Given the description of an element on the screen output the (x, y) to click on. 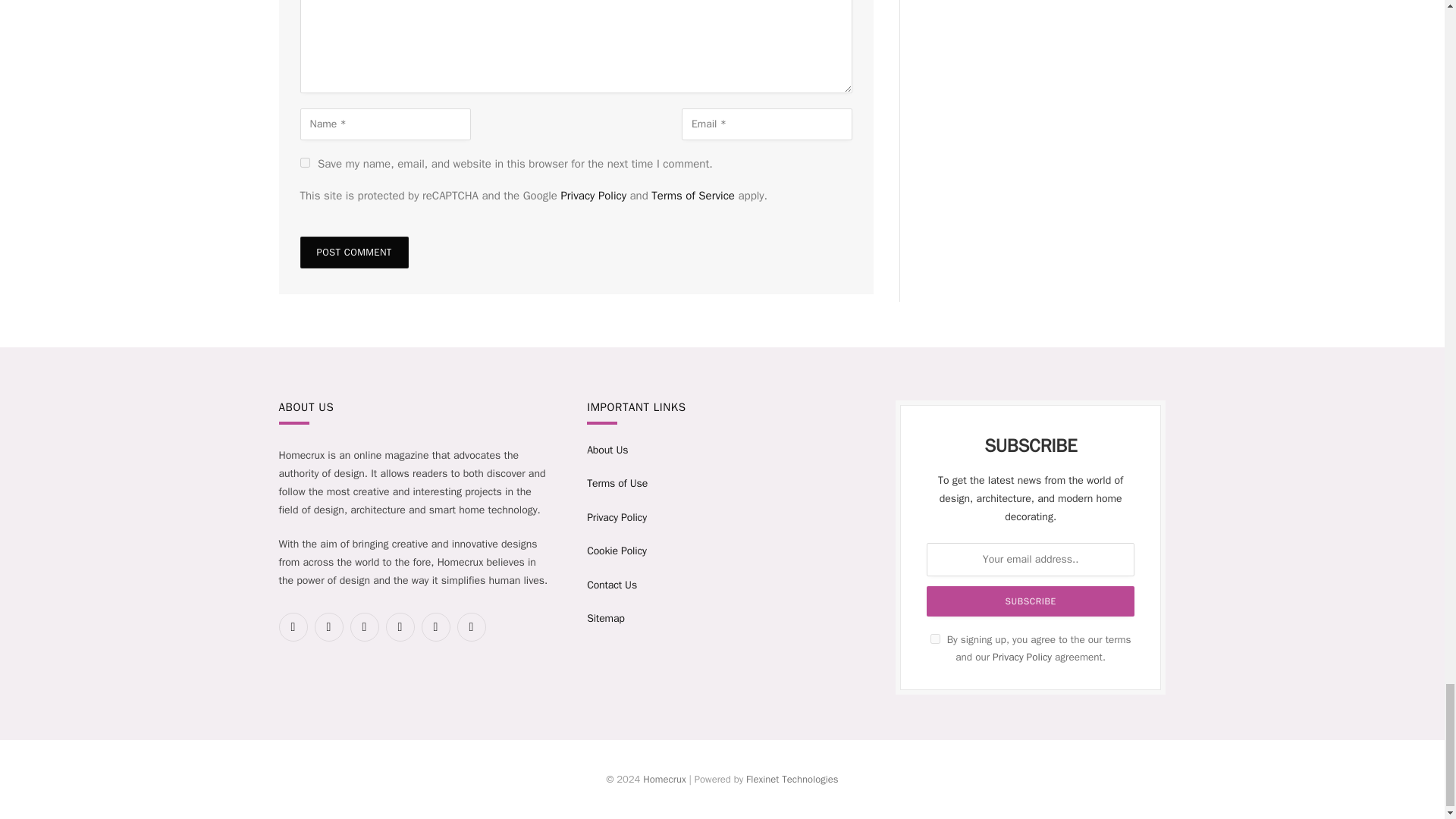
on (935, 638)
SUBSCRIBE (1030, 601)
Post Comment (354, 252)
yes (304, 162)
